Given the description of an element on the screen output the (x, y) to click on. 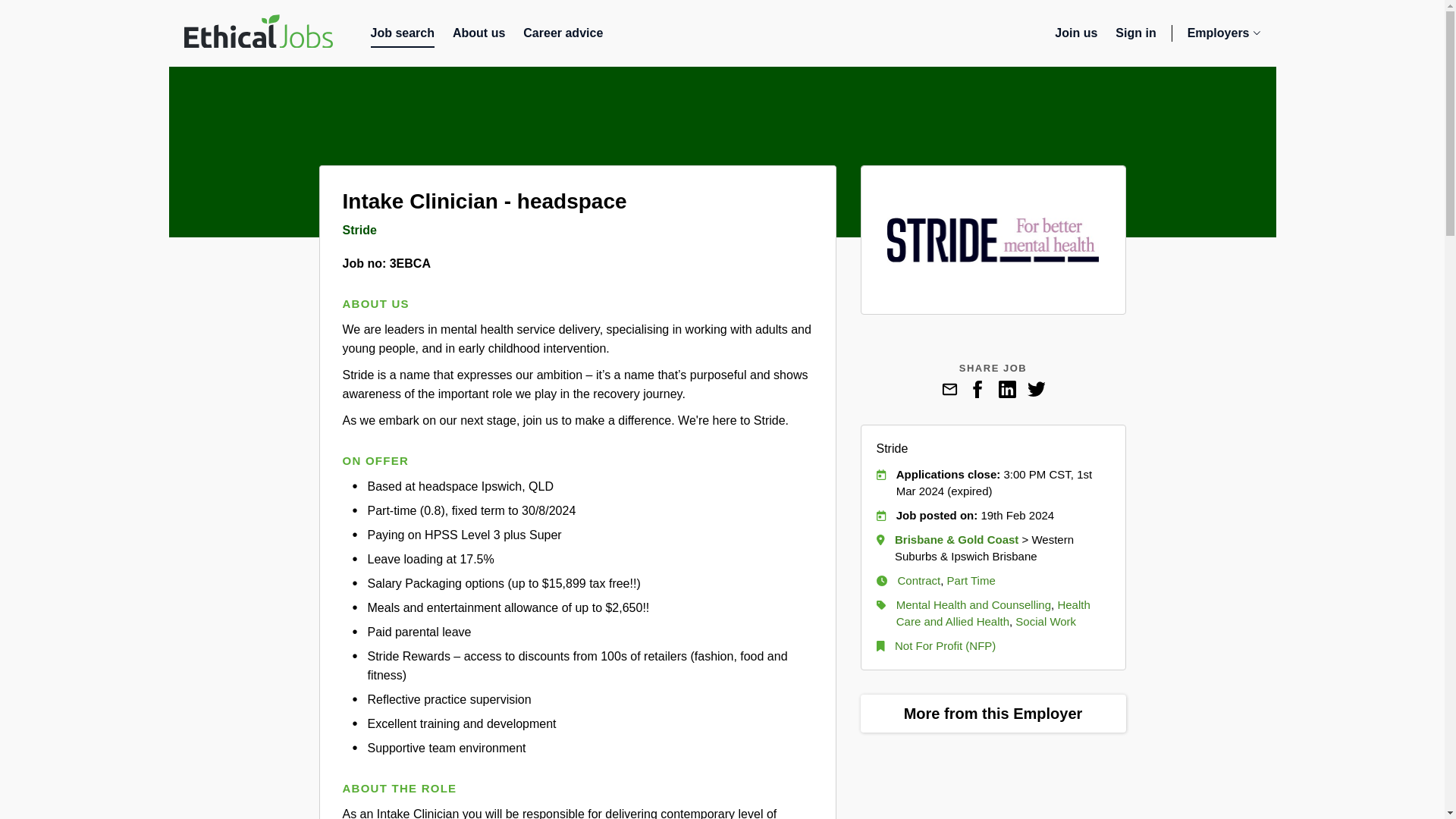
Join us (1075, 36)
Job search (401, 36)
Sign in (1224, 36)
Ethical Jobs Logo (1135, 36)
Career advice (257, 31)
Ethical Jobs Logo (562, 36)
About us (257, 33)
